Given the description of an element on the screen output the (x, y) to click on. 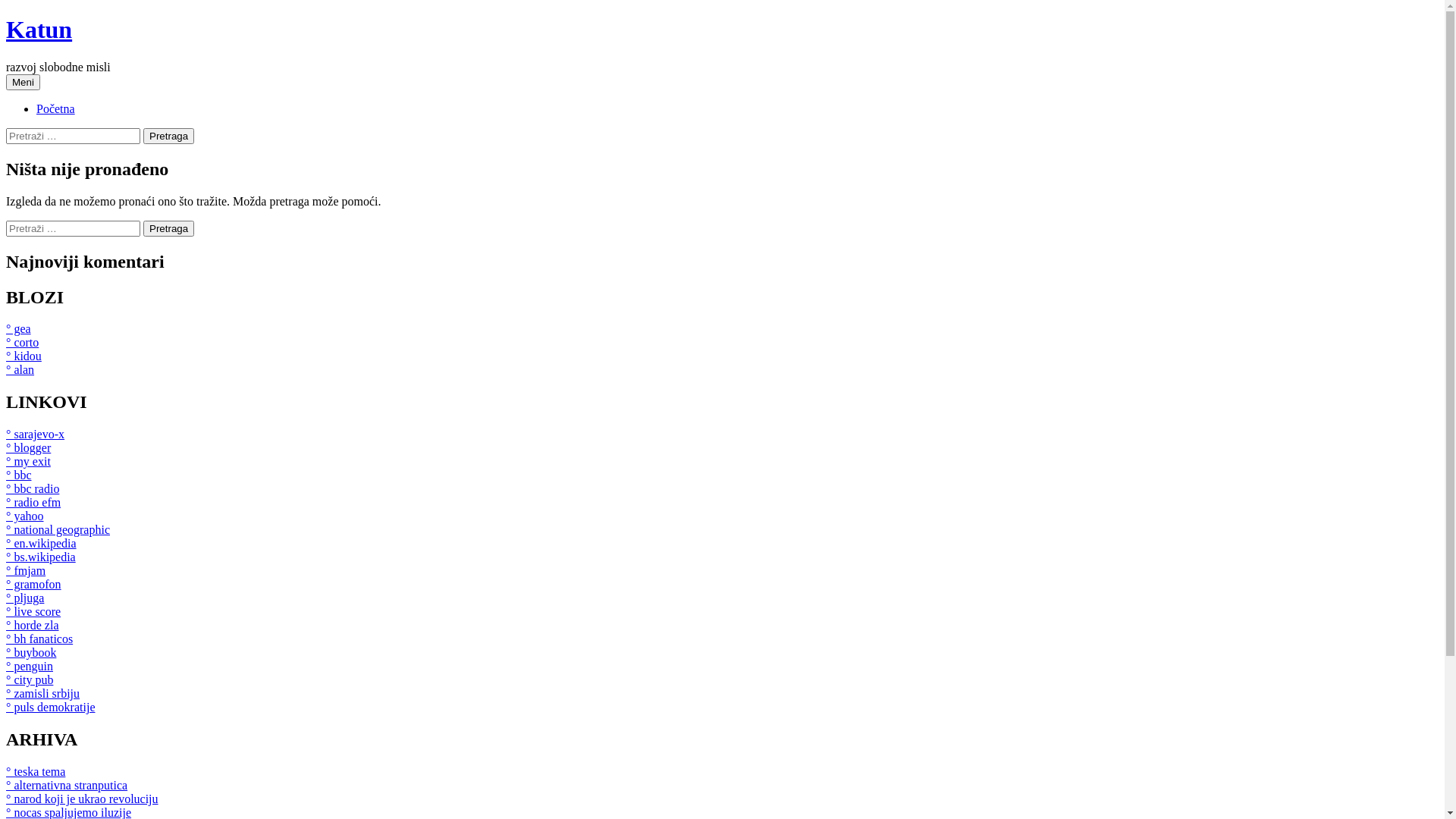
Pretraga Element type: text (168, 228)
Meni Element type: text (23, 82)
Pretraga Element type: text (168, 136)
Katun Element type: text (39, 29)
